Given the description of an element on the screen output the (x, y) to click on. 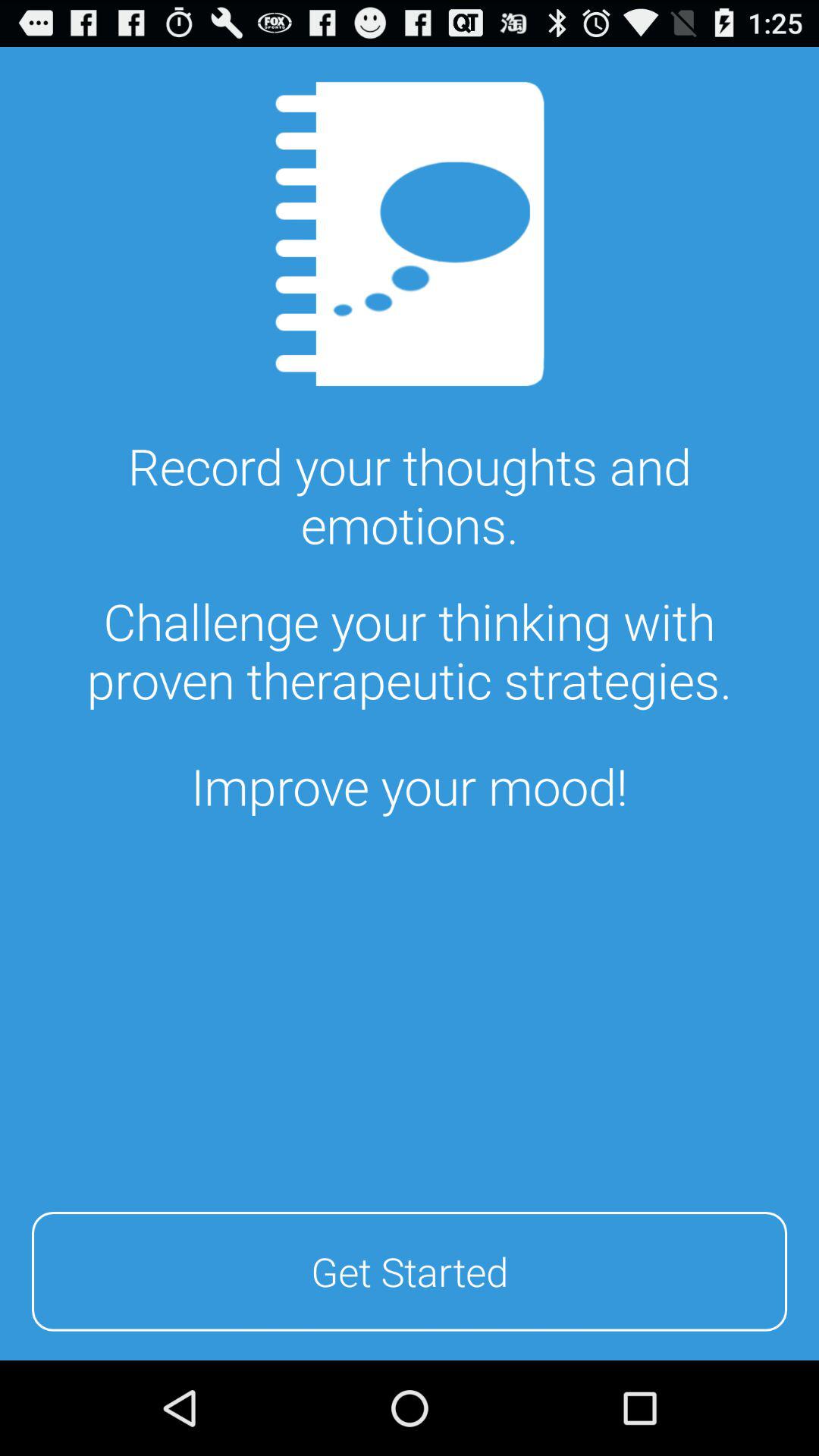
select the icon at the bottom (409, 1268)
